Given the description of an element on the screen output the (x, y) to click on. 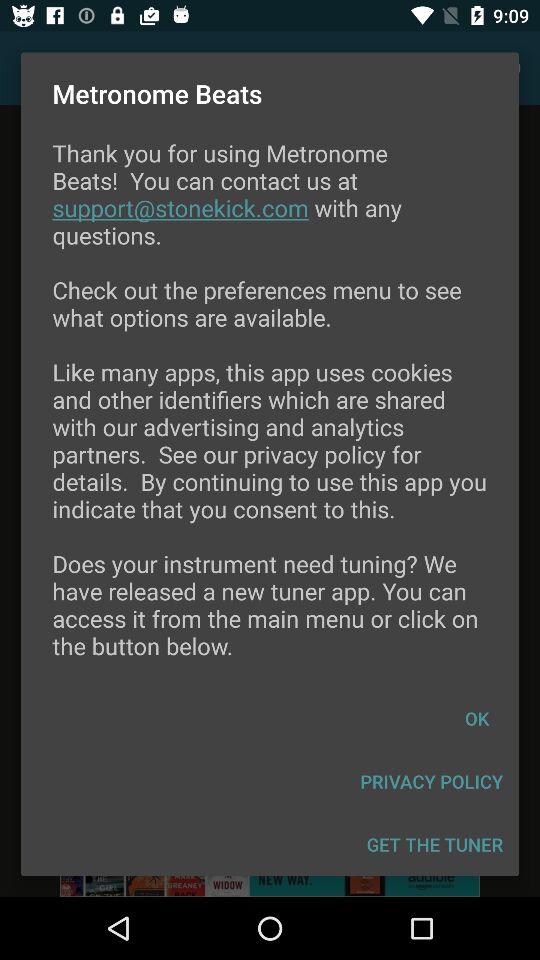
swipe until the get the tuner icon (434, 844)
